Given the description of an element on the screen output the (x, y) to click on. 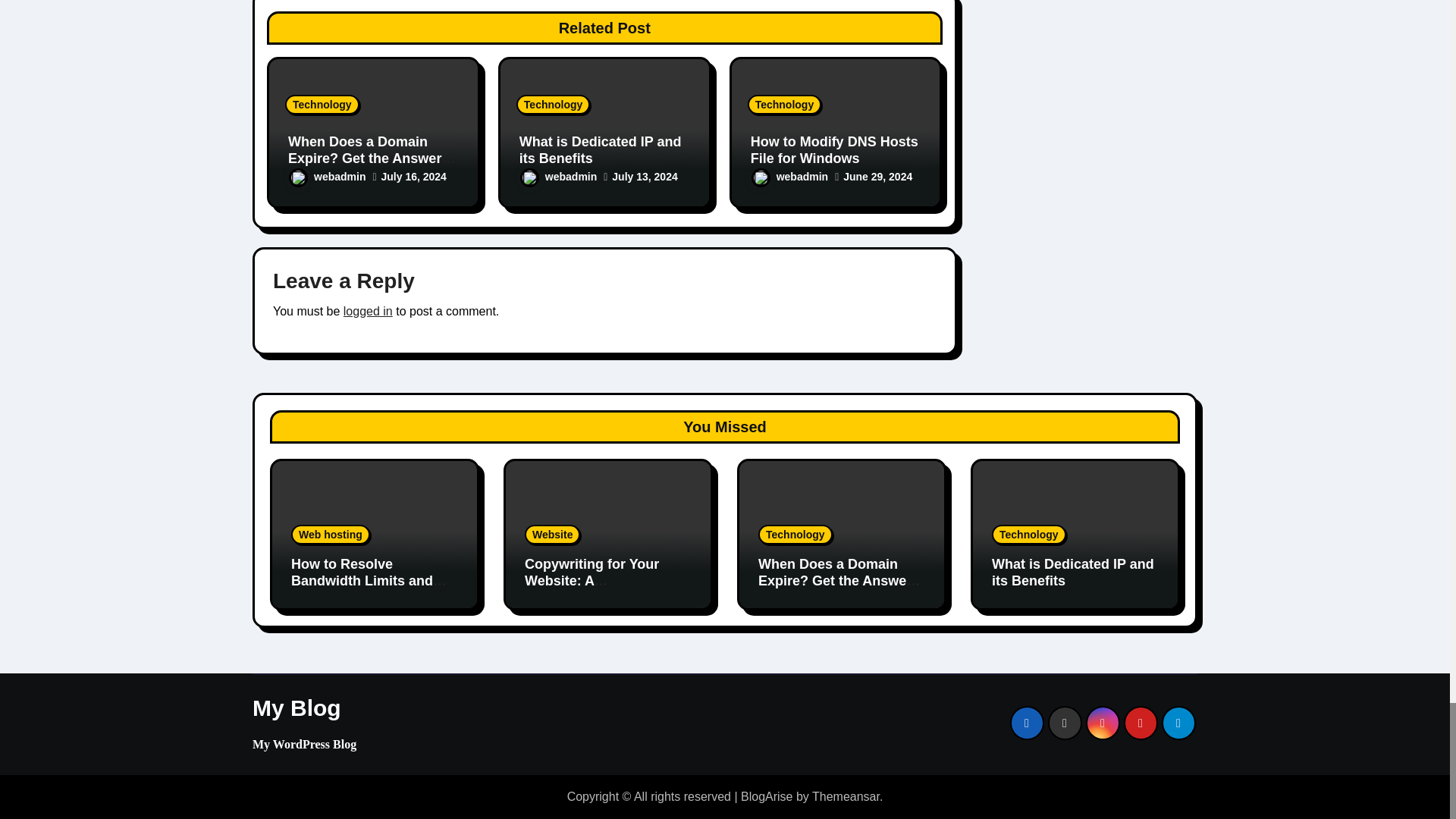
Permalink to: What is Dedicated IP and its Benefits (600, 150)
Permalink to: What is Dedicated IP and its Benefits (1072, 572)
Permalink to: How to Modify DNS Hosts File for Windows (834, 150)
